Given the description of an element on the screen output the (x, y) to click on. 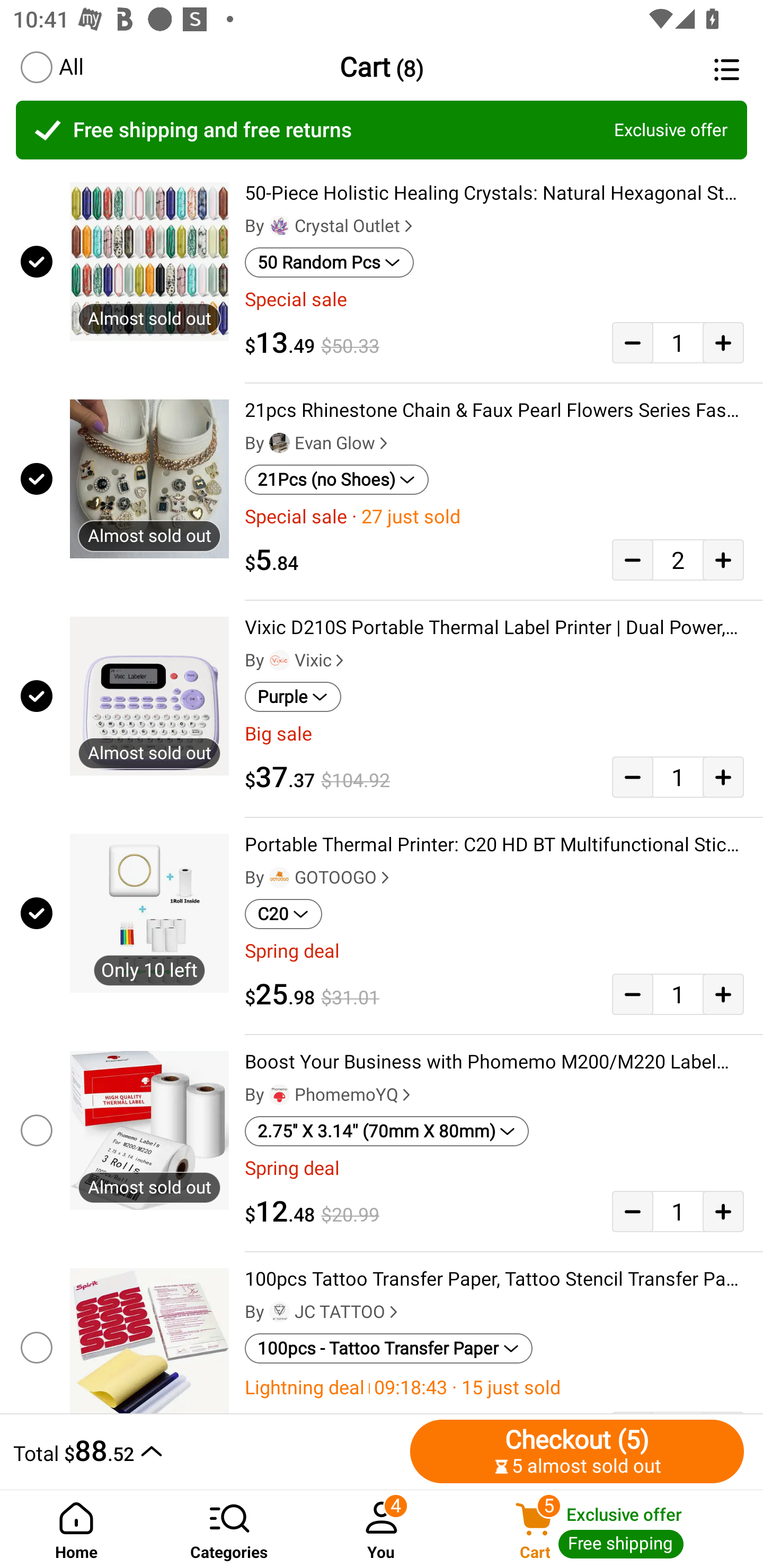
Select all tick button All (51, 67)
Free shipping and free returns Exclusive offer (381, 129)
Product checkbox checked (35, 260)
By Crystal Outlet (330, 226)
50 Random Pcs (328, 262)
Decrease quantity button (632, 342)
1 (677, 342)
Add quantity button (722, 342)
Product checkbox checked (35, 478)
By Evan Glow (317, 442)
21Pcs (no Shoes) (336, 479)
Decrease quantity button (632, 559)
2 (677, 559)
Add quantity button (722, 559)
Product checkbox checked (35, 696)
By Vixic (295, 660)
Purple (292, 696)
Decrease quantity button (632, 776)
1 (677, 776)
Add quantity button (722, 776)
Product checkbox checked (35, 913)
By GOTOOGO (318, 877)
C20 (282, 913)
Spring deal (493, 951)
Decrease quantity button (632, 993)
1 (677, 993)
Add quantity button (722, 993)
Product checkbox uncheck (35, 1130)
By PhomemoYQ (329, 1095)
2.75'' X 3.14'' (70mm X 80mm) (386, 1131)
Spring deal (493, 1168)
Decrease quantity button (632, 1211)
1 (677, 1211)
Add quantity button (722, 1211)
Product checkbox uncheck (35, 1344)
By JC TATTOO (322, 1311)
100pcs - Tattoo Transfer Paper (388, 1348)
Lightning deal | ￼ · 15 just sold (493, 1387)
Total $88.52 (206, 1450)
Checkout Checkout (5) ￼5 almost sold out (576, 1451)
Home (76, 1528)
Categories (228, 1528)
You 4 You (381, 1528)
Cart 5 Cart Exclusive offer (610, 1528)
